Given the description of an element on the screen output the (x, y) to click on. 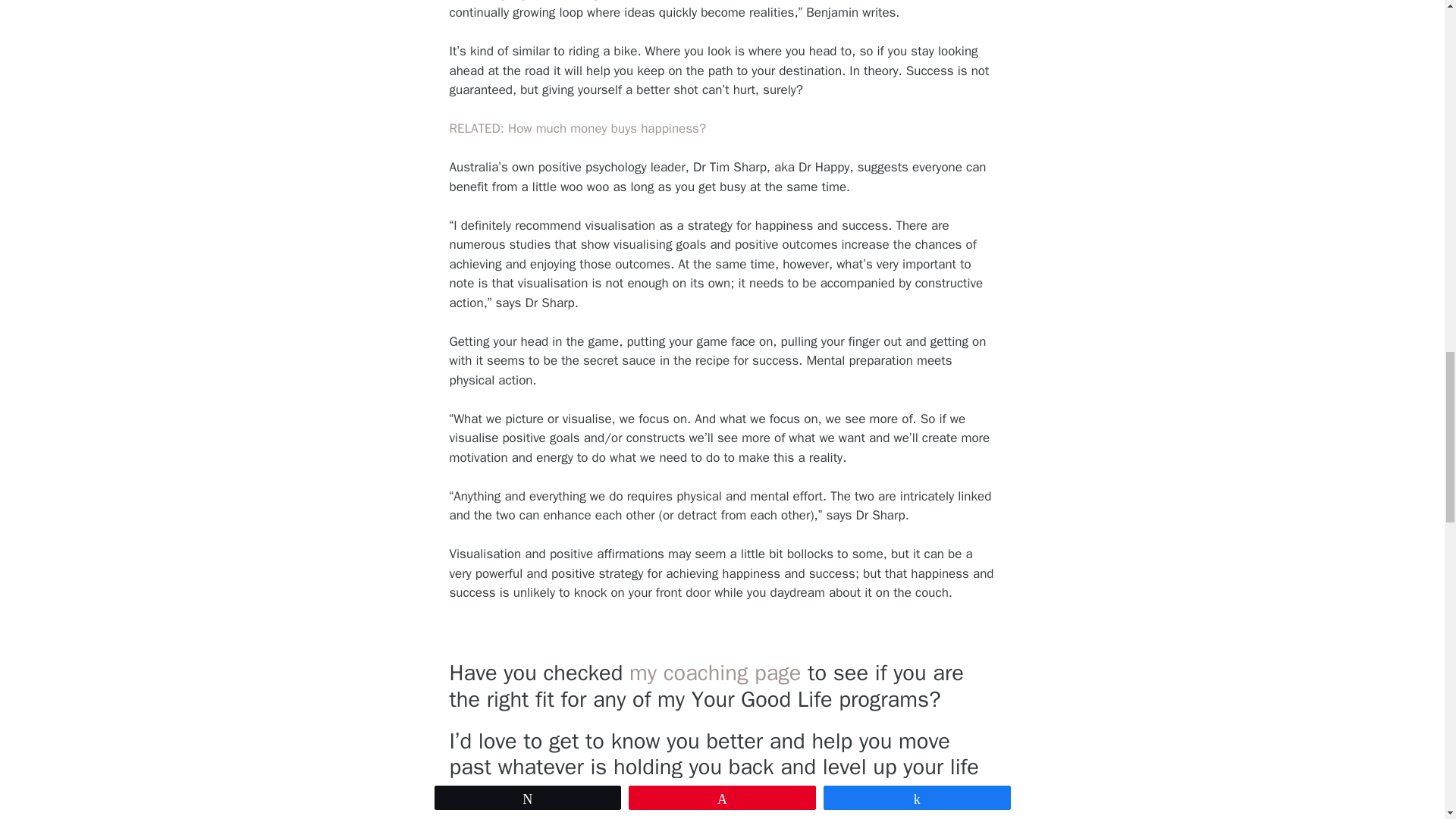
RELATED: How much money buys happiness? (577, 128)
my coaching page (718, 673)
